Given the description of an element on the screen output the (x, y) to click on. 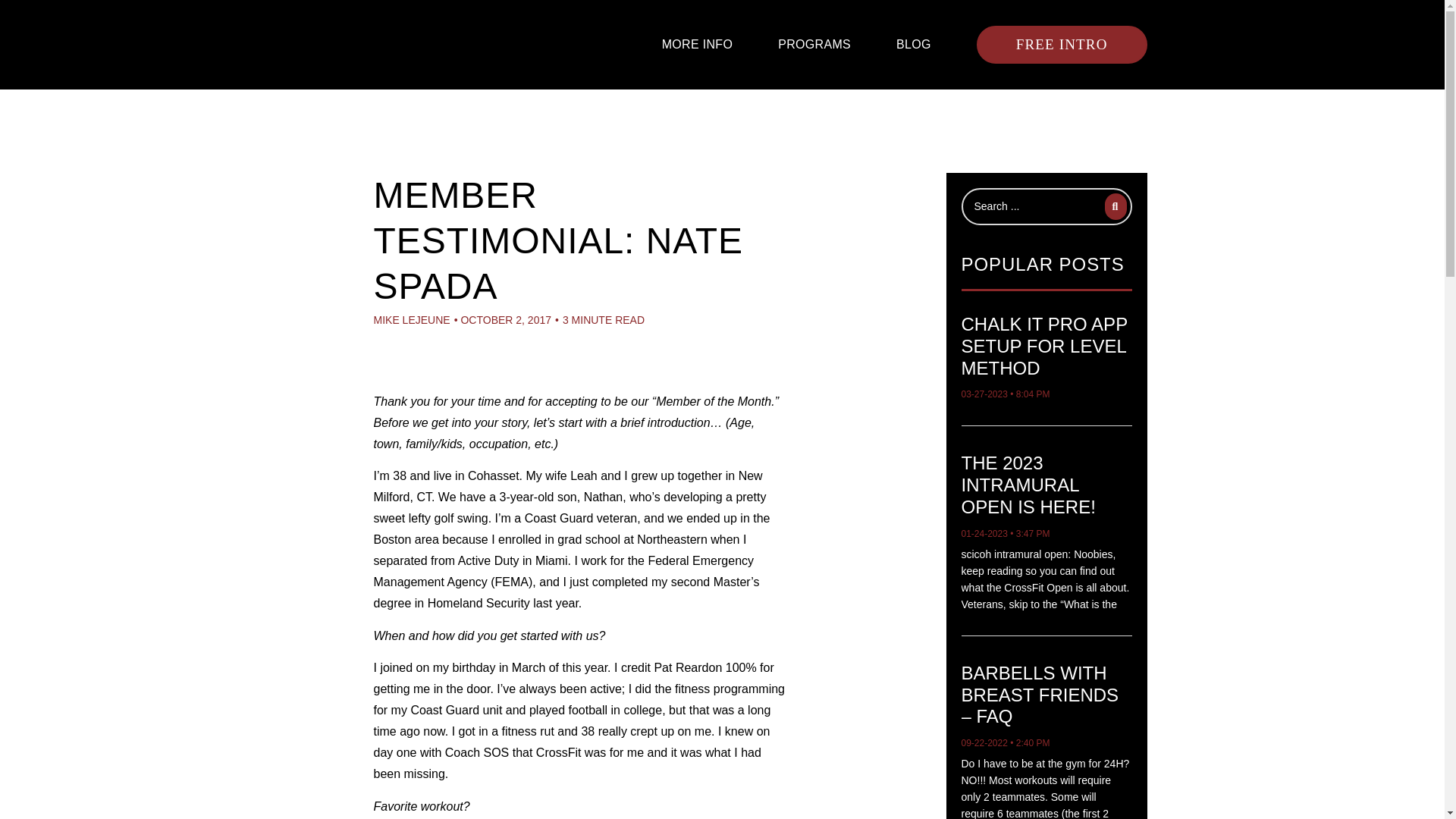
BLOG (913, 44)
THE 2023 INTRAMURAL OPEN IS HERE! (1028, 484)
PROGRAMS (813, 44)
CHALK IT PRO APP SETUP FOR LEVEL METHOD (1043, 345)
MORE INFO (697, 44)
FREE INTRO (1061, 44)
